Given the description of an element on the screen output the (x, y) to click on. 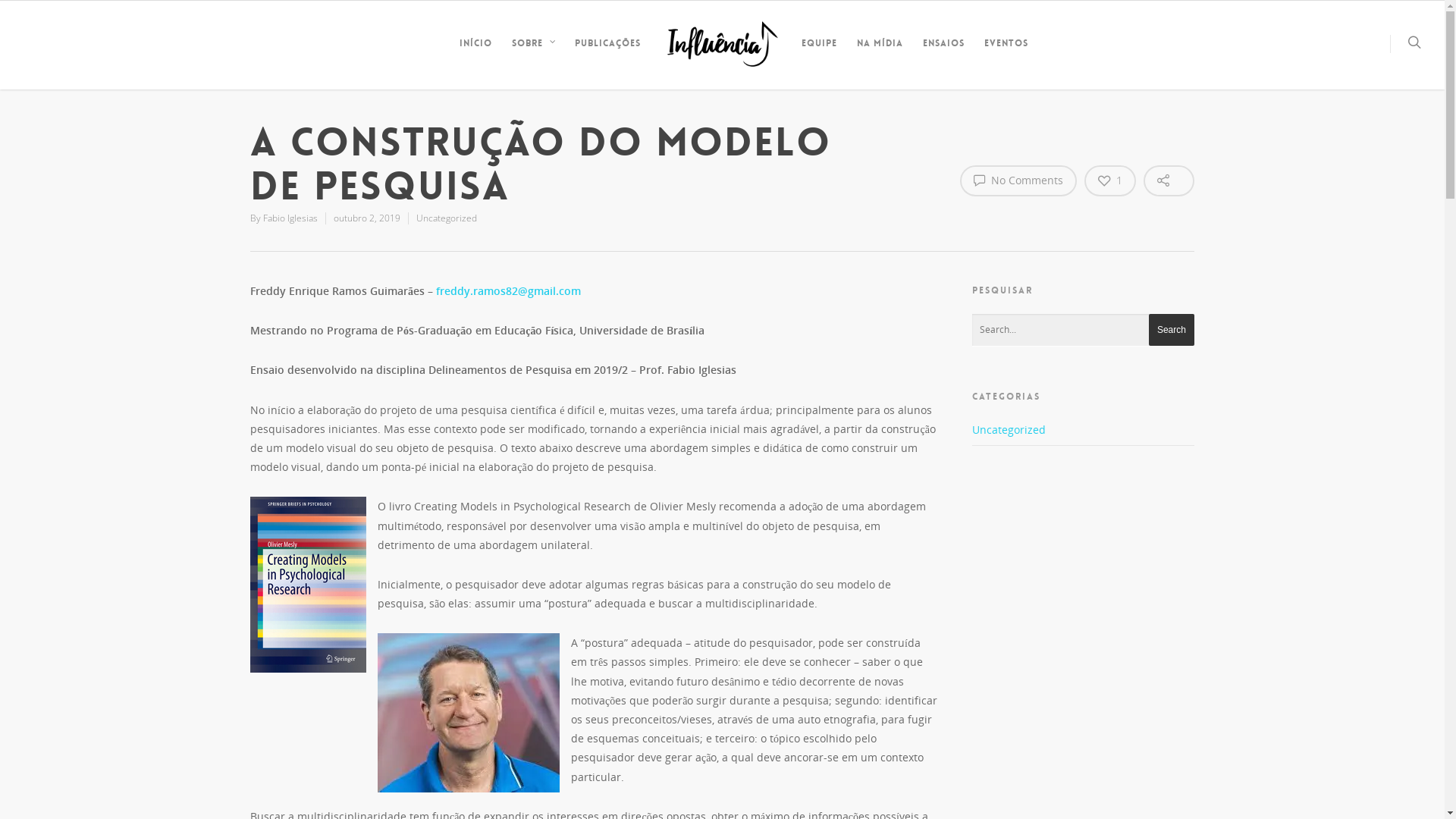
Ensaios Element type: text (942, 54)
Search for: Element type: hover (1083, 329)
Equipe Element type: text (818, 54)
freddy.ramos82@gmail.com Element type: text (508, 290)
Eventos Element type: text (1005, 54)
1 Element type: text (1109, 180)
No Comments Element type: text (1018, 180)
Search Element type: text (1171, 329)
Uncategorized Element type: text (446, 217)
Uncategorized Element type: text (1083, 432)
Fabio Iglesias Element type: text (290, 217)
Sobre Element type: text (532, 55)
